Given the description of an element on the screen output the (x, y) to click on. 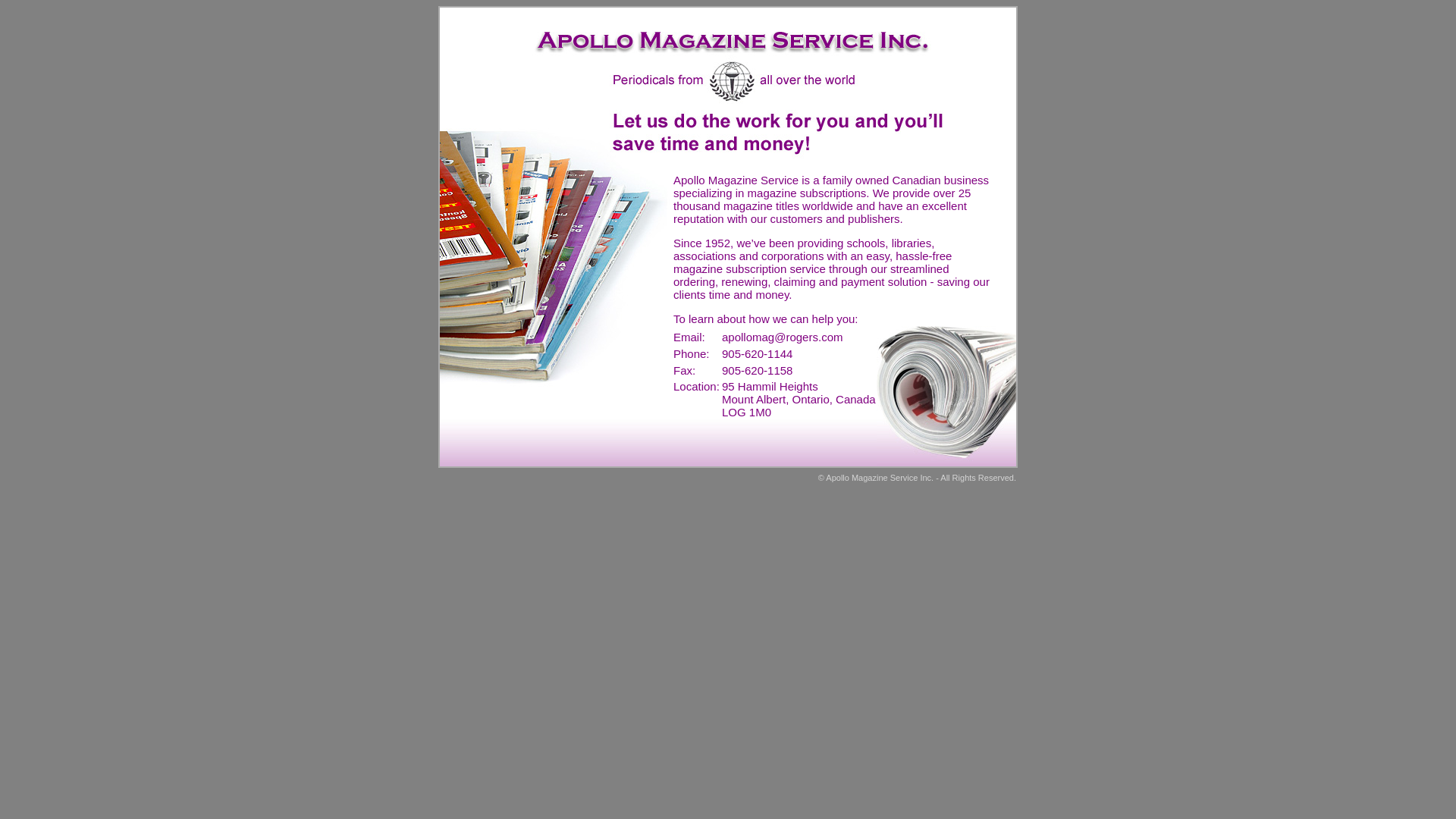
apollomag@rogers.com Element type: text (781, 336)
